Given the description of an element on the screen output the (x, y) to click on. 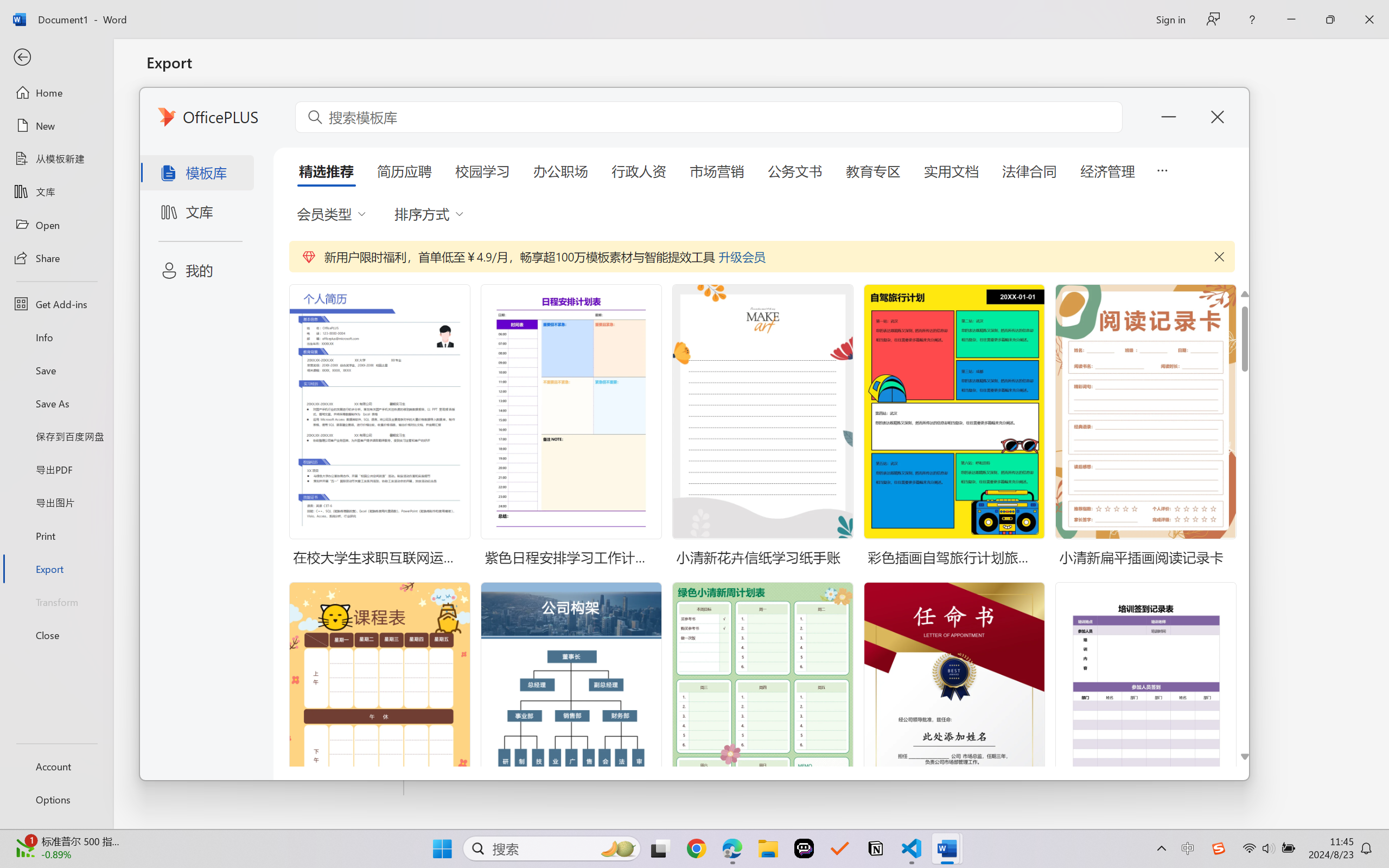
Options (56, 798)
Get Add-ins (56, 303)
